Given the description of an element on the screen output the (x, y) to click on. 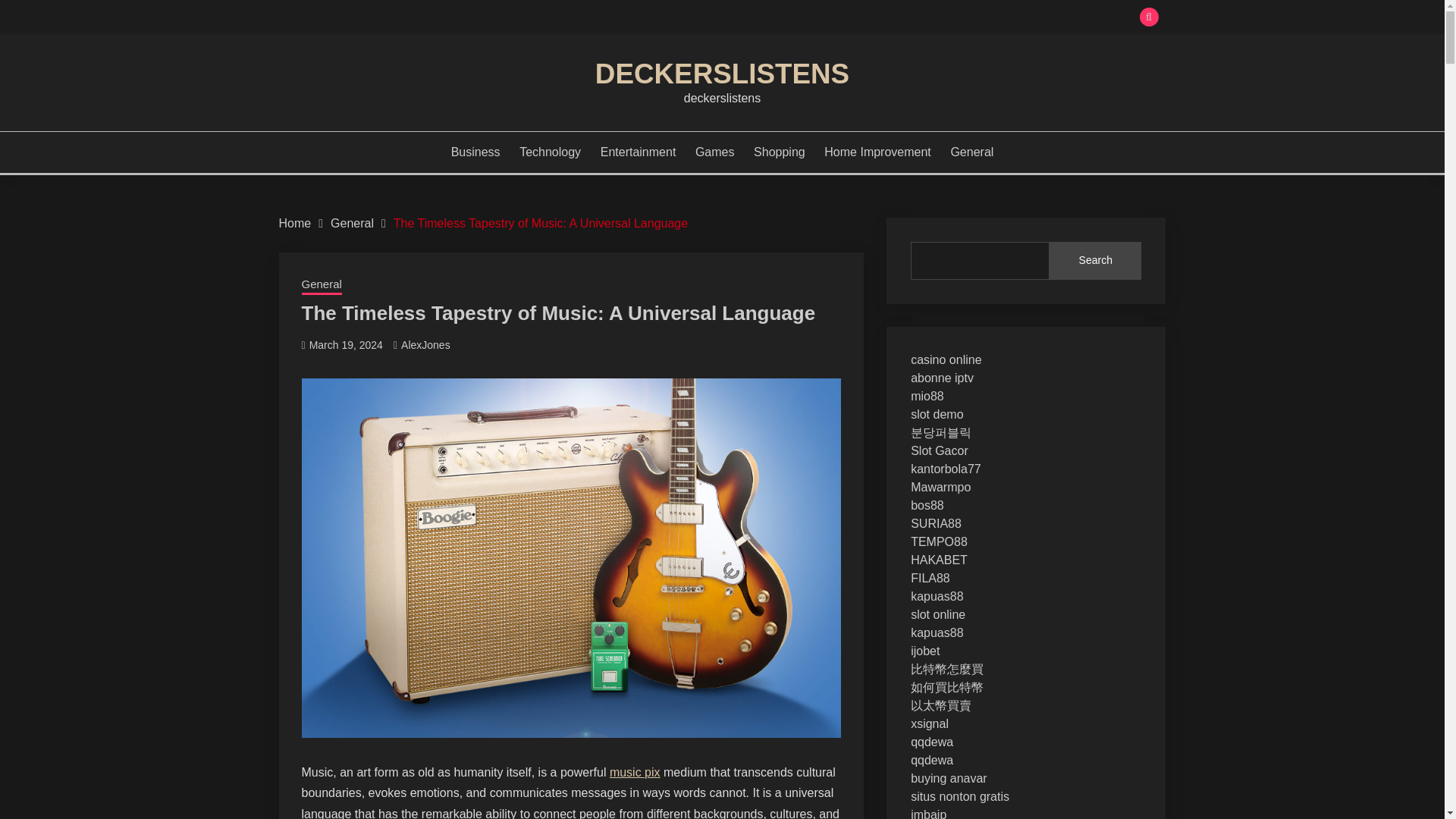
Technology (549, 152)
March 19, 2024 (345, 345)
General (352, 223)
Home Improvement (877, 152)
Shopping (779, 152)
General (971, 152)
Search (832, 18)
mio88 (927, 395)
music pix (635, 771)
Business (475, 152)
The Timeless Tapestry of Music: A Universal Language (540, 223)
General (321, 285)
Entertainment (638, 152)
DECKERSLISTENS (721, 73)
Search (1095, 260)
